Given the description of an element on the screen output the (x, y) to click on. 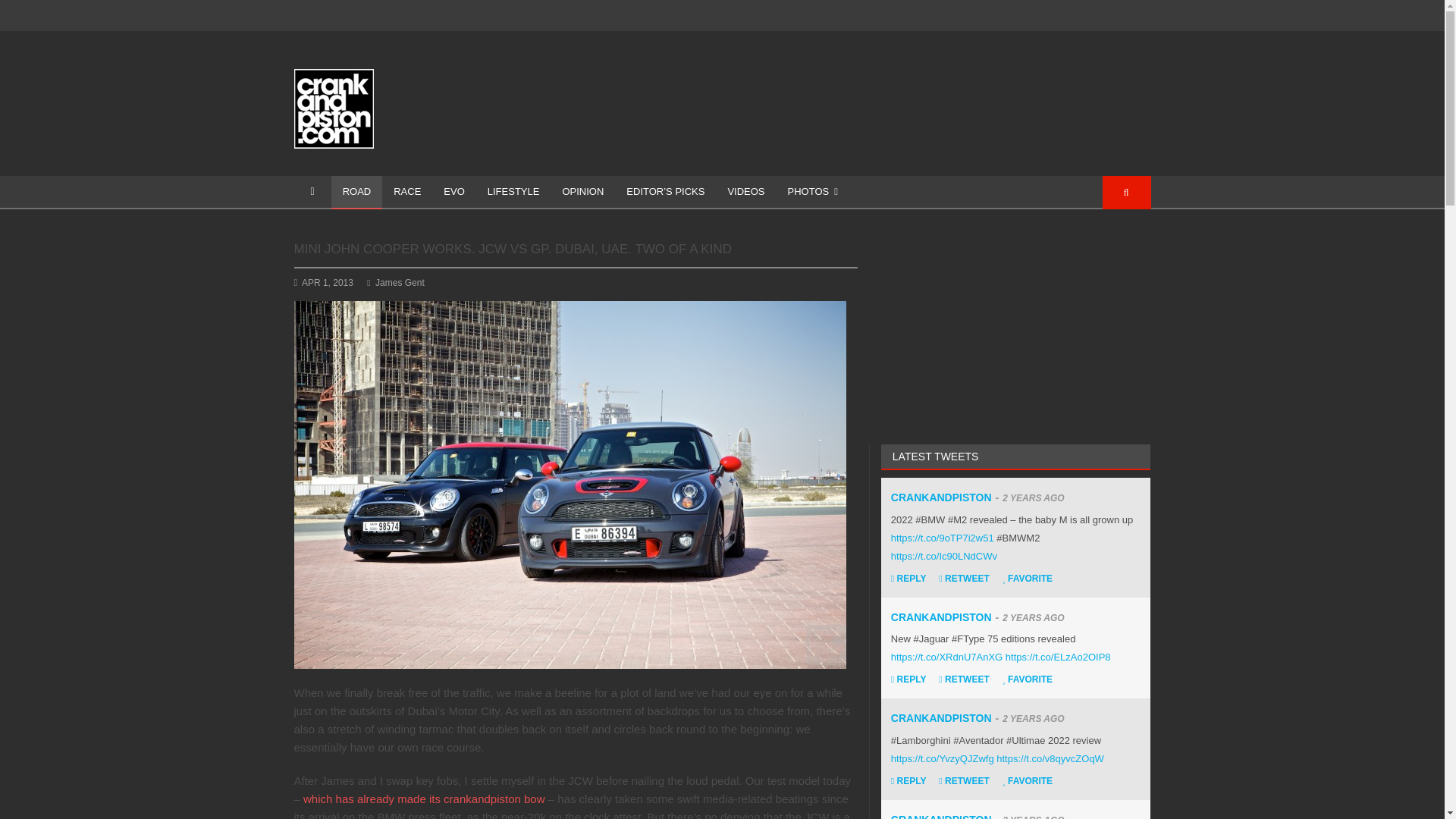
ROAD (356, 192)
James Gent (394, 282)
EVO (454, 192)
RACE (406, 192)
Monday, April 1, 2013, 8:20 pm (327, 282)
which has already made its crankandpiston bow (423, 798)
VIDEOS (746, 192)
LIFESTYLE (513, 192)
On The Road (356, 192)
OPINION (582, 192)
PHOTOS (812, 192)
